Given the description of an element on the screen output the (x, y) to click on. 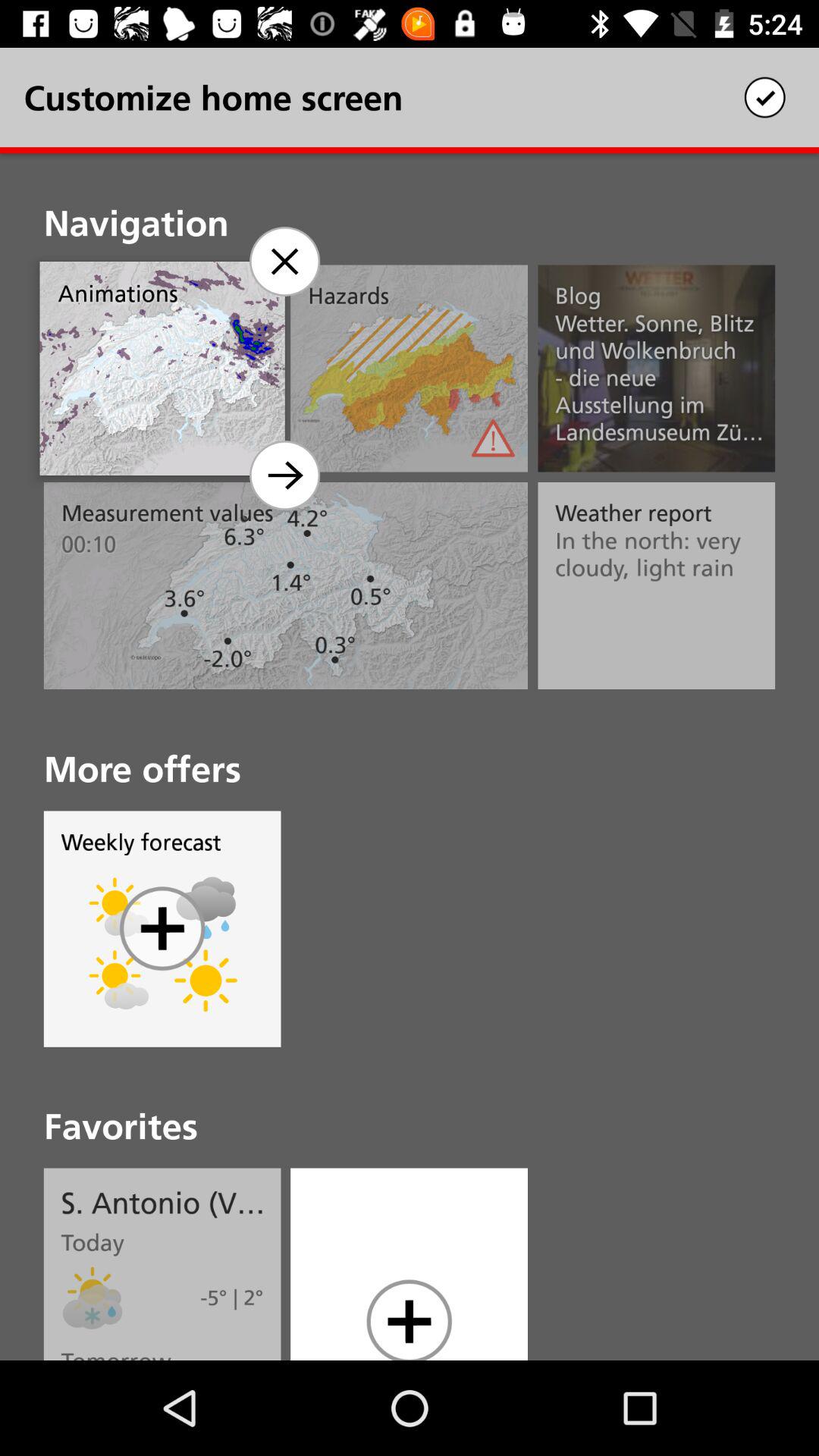
the circle with  symbol inside it shown at the bottom of the page (408, 1318)
click on the third image which is next to hazards image (656, 367)
select the image below the  button on the web page (118, 980)
select  symbol in circle which is below weekly forecast (162, 928)
